Given the description of an element on the screen output the (x, y) to click on. 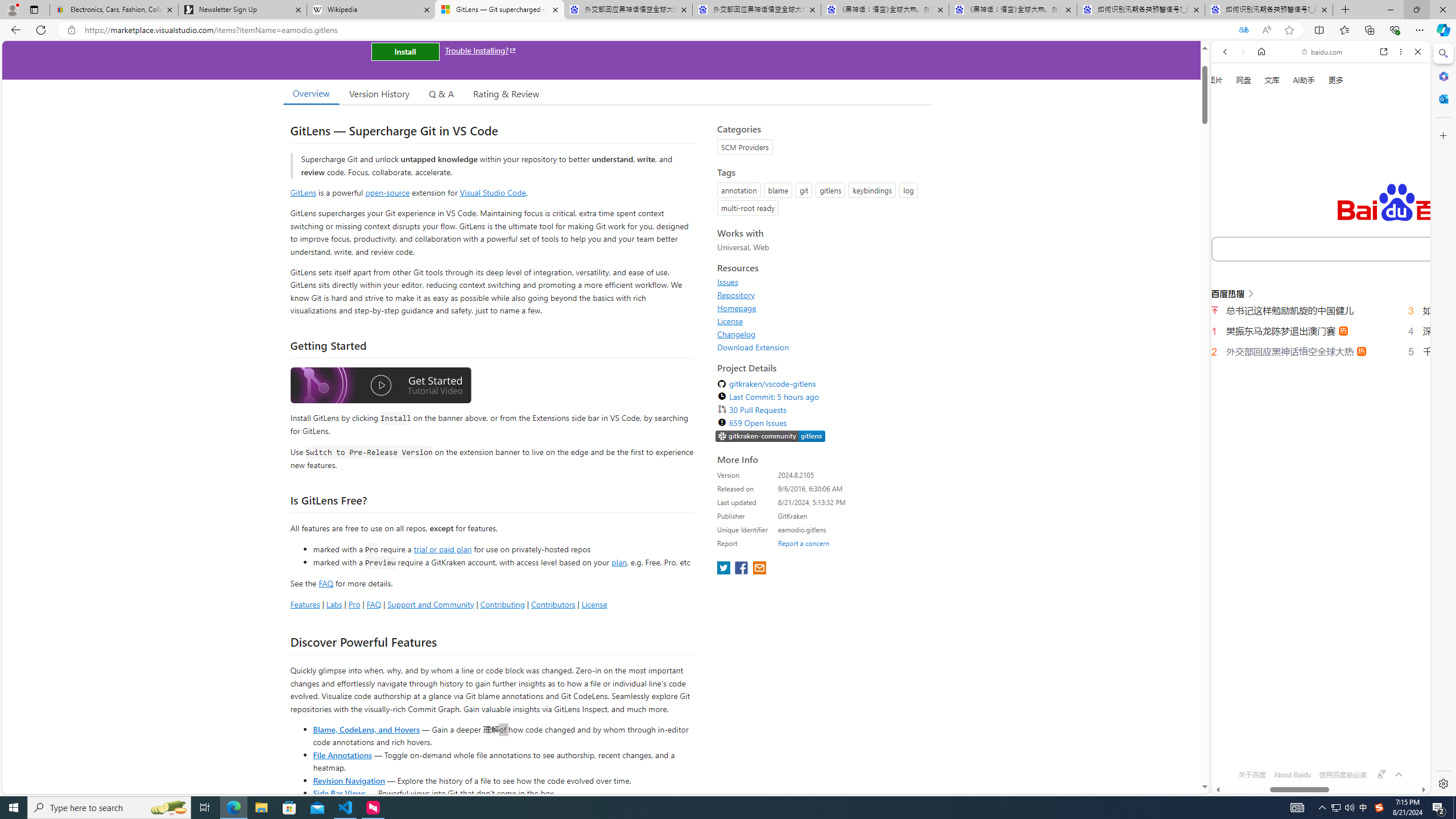
Side Bar Views (339, 792)
English (US) (1320, 329)
Contributors (552, 603)
Q & A (441, 92)
Download Extension (753, 346)
Labs (334, 603)
